Given the description of an element on the screen output the (x, y) to click on. 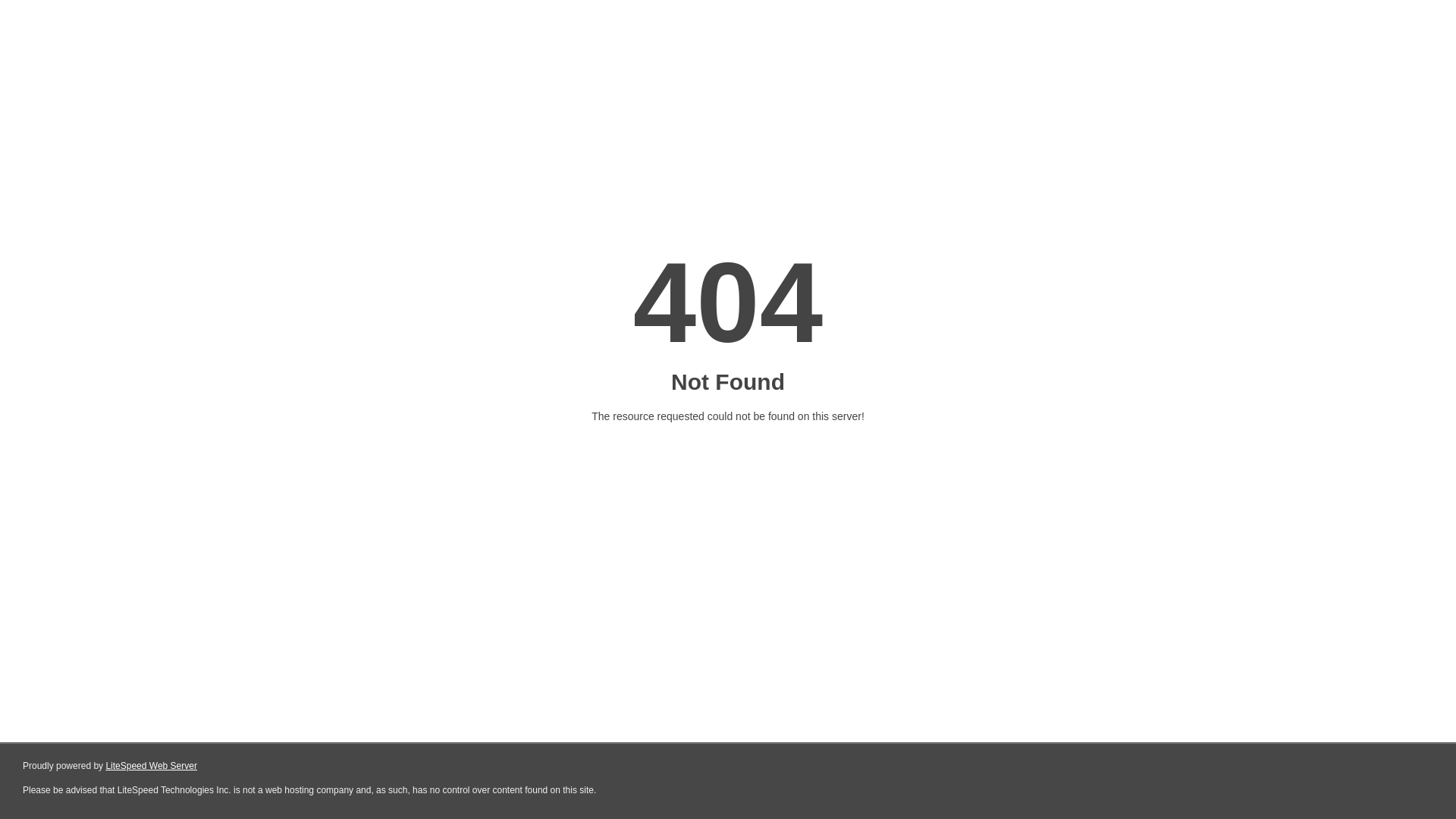
LiteSpeed Web Server Element type: text (151, 765)
